Given the description of an element on the screen output the (x, y) to click on. 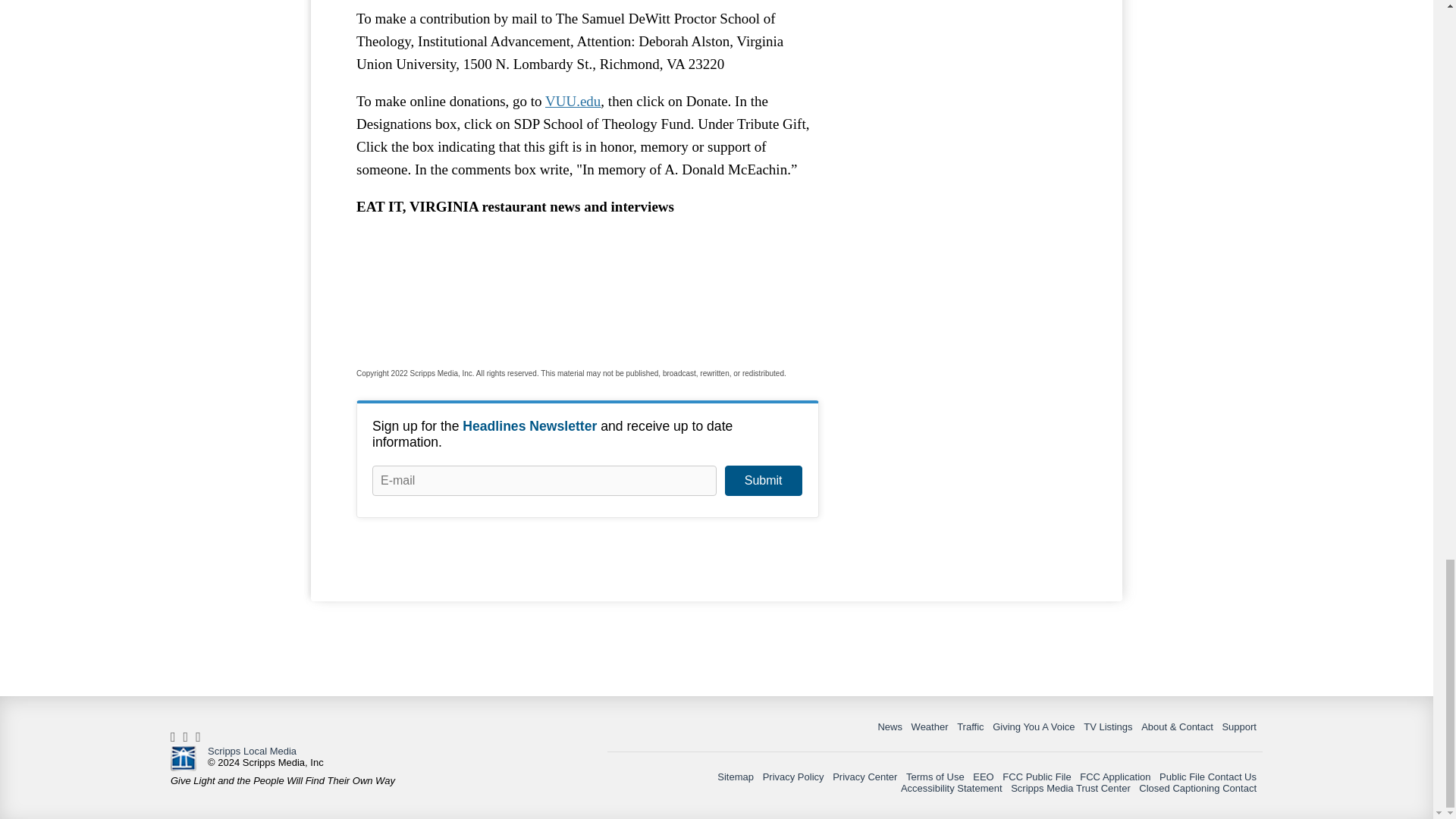
Ty Walker: Smoke In Chimneys (587, 286)
Submit (763, 481)
